Given the description of an element on the screen output the (x, y) to click on. 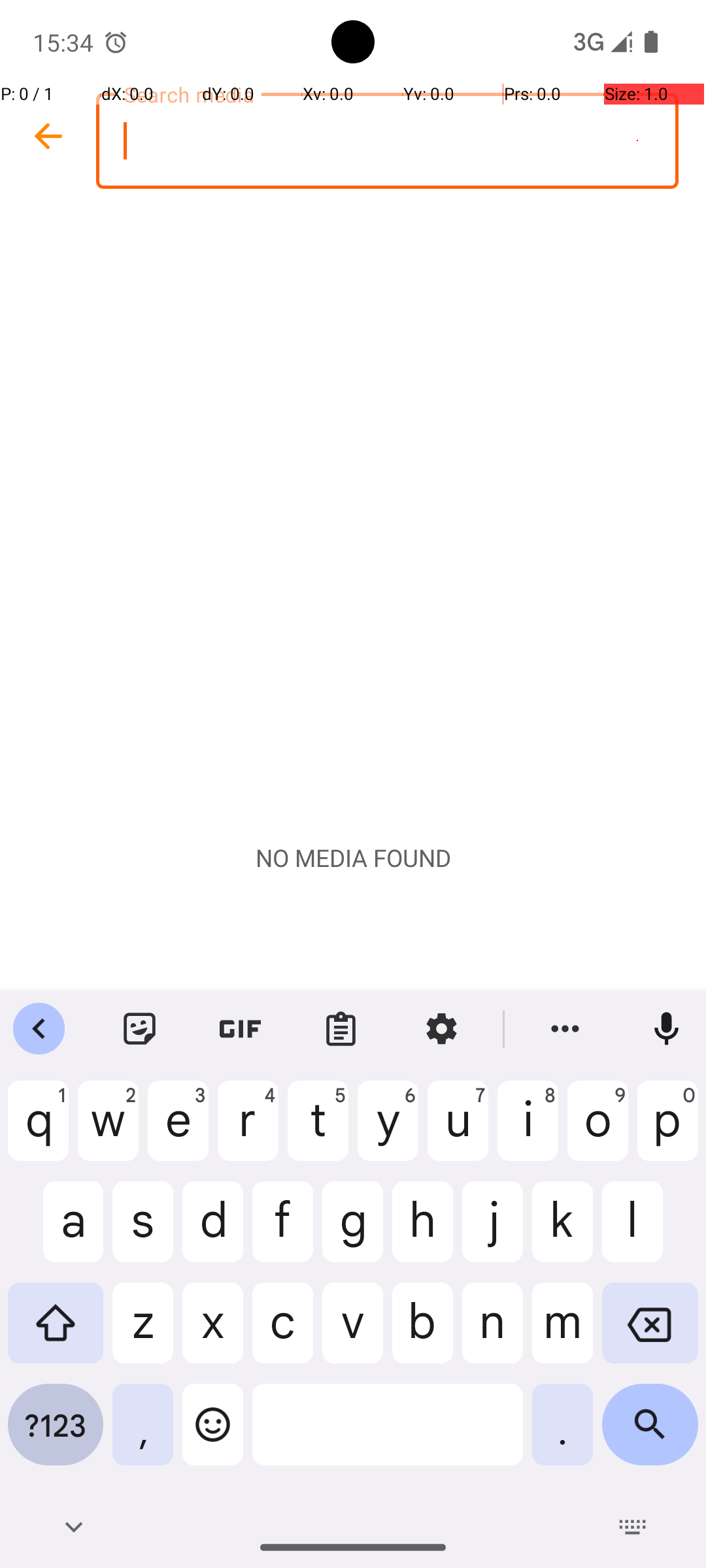
Search media Element type: android.widget.EditText (387, 140)
NO MEDIA FOUND Element type: android.widget.TextView (353, 857)
